Given the description of an element on the screen output the (x, y) to click on. 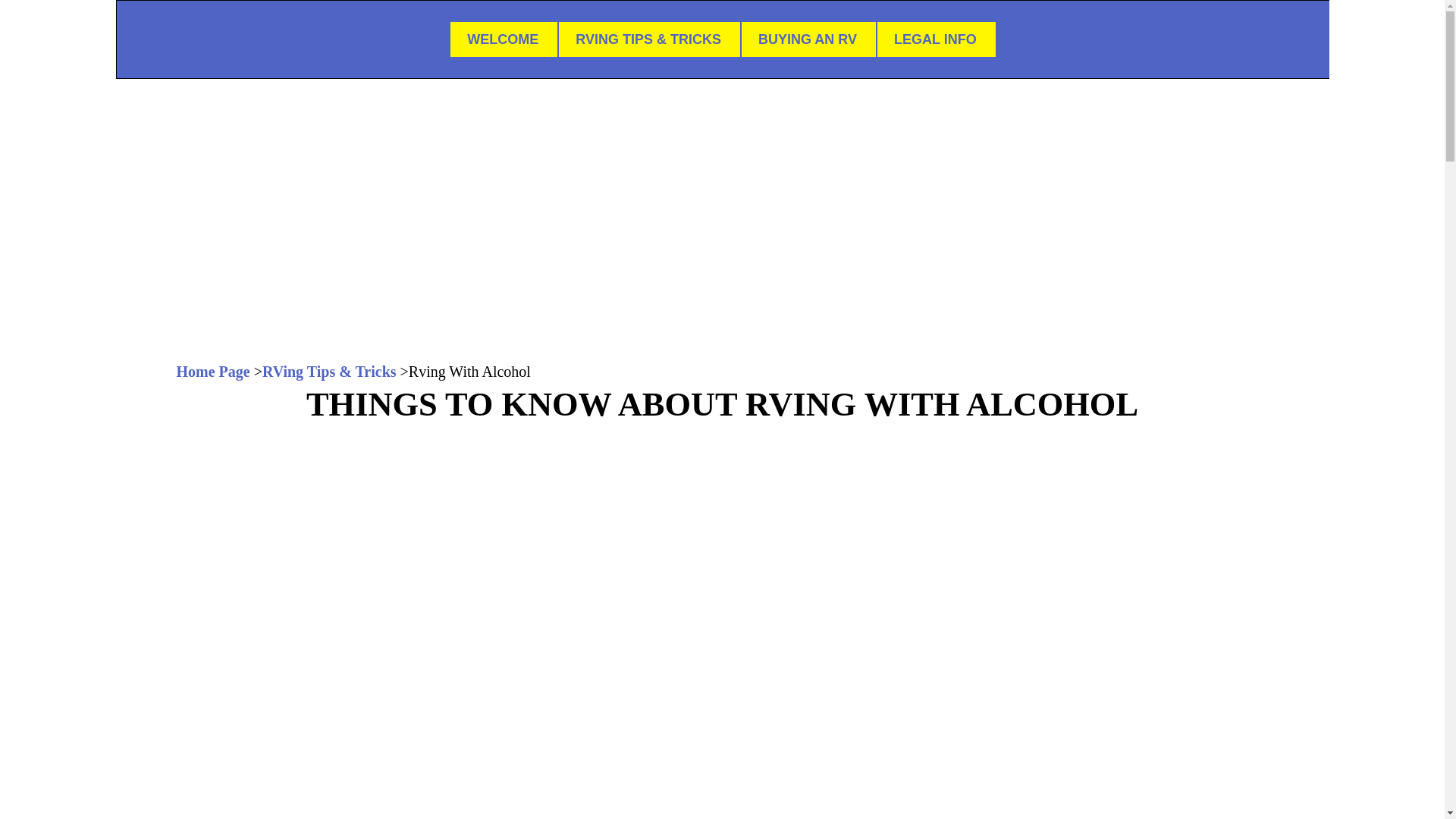
Home Page (212, 371)
EVERYTHING ABOUT RVING (722, 110)
